Given the description of an element on the screen output the (x, y) to click on. 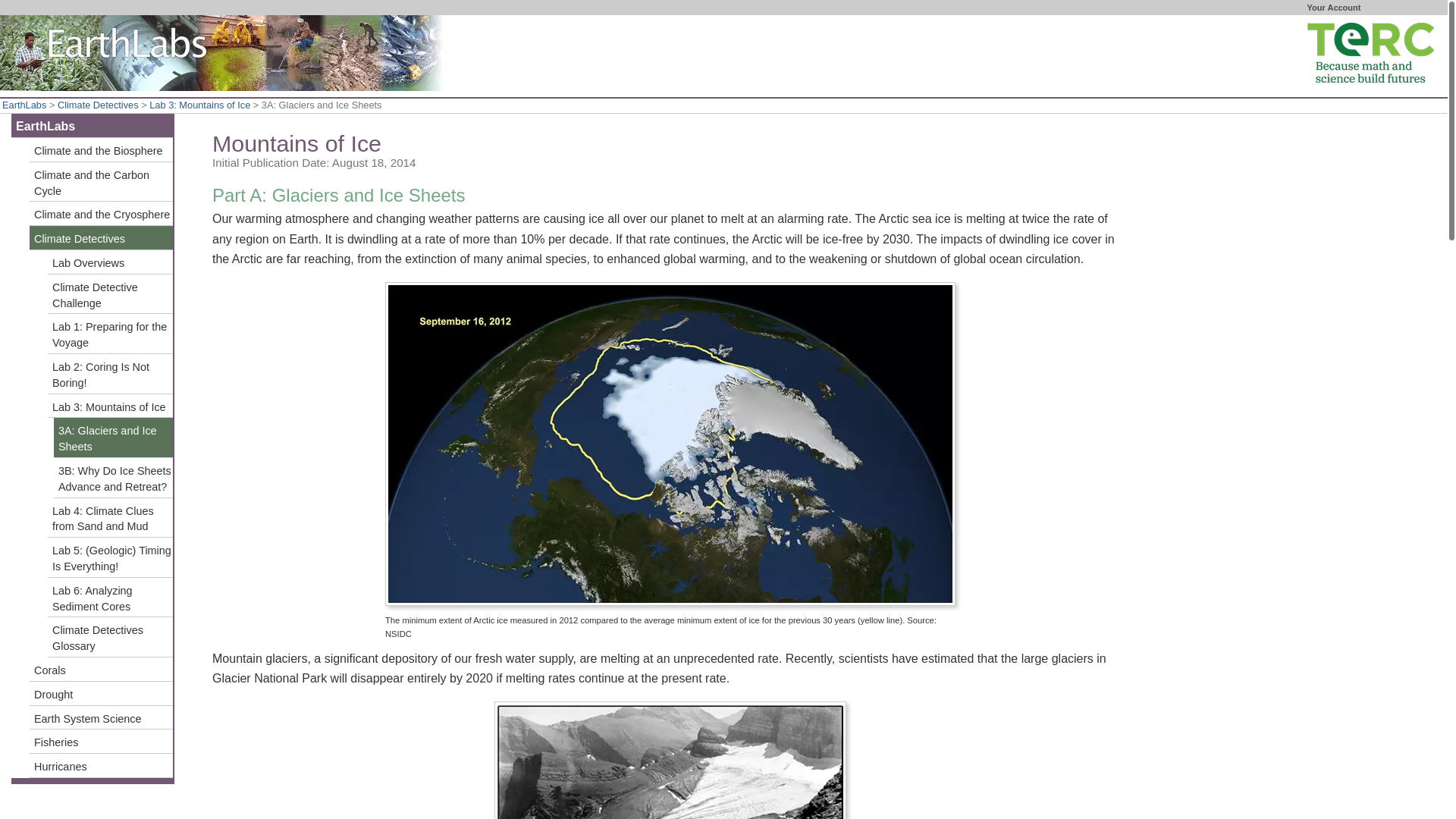
EarthLabs (92, 125)
EarthLabs (24, 104)
Climate and the Cryosphere (101, 213)
Lab 6: Analyzing Sediment Cores (110, 598)
3A: Glaciers and Ice Sheets (113, 437)
Lab 1: Preparing for the Voyage (110, 333)
Fisheries (101, 741)
Climate Detectives (98, 104)
Climate Detectives Glossary (110, 637)
Lab Overviews (110, 262)
Climate Detective Challenge (110, 294)
Lab 2: Coring Is Not Boring! (110, 373)
Earth System Science (101, 717)
Climate Detectives (101, 238)
Lab 3: Mountains of Ice (110, 405)
